Given the description of an element on the screen output the (x, y) to click on. 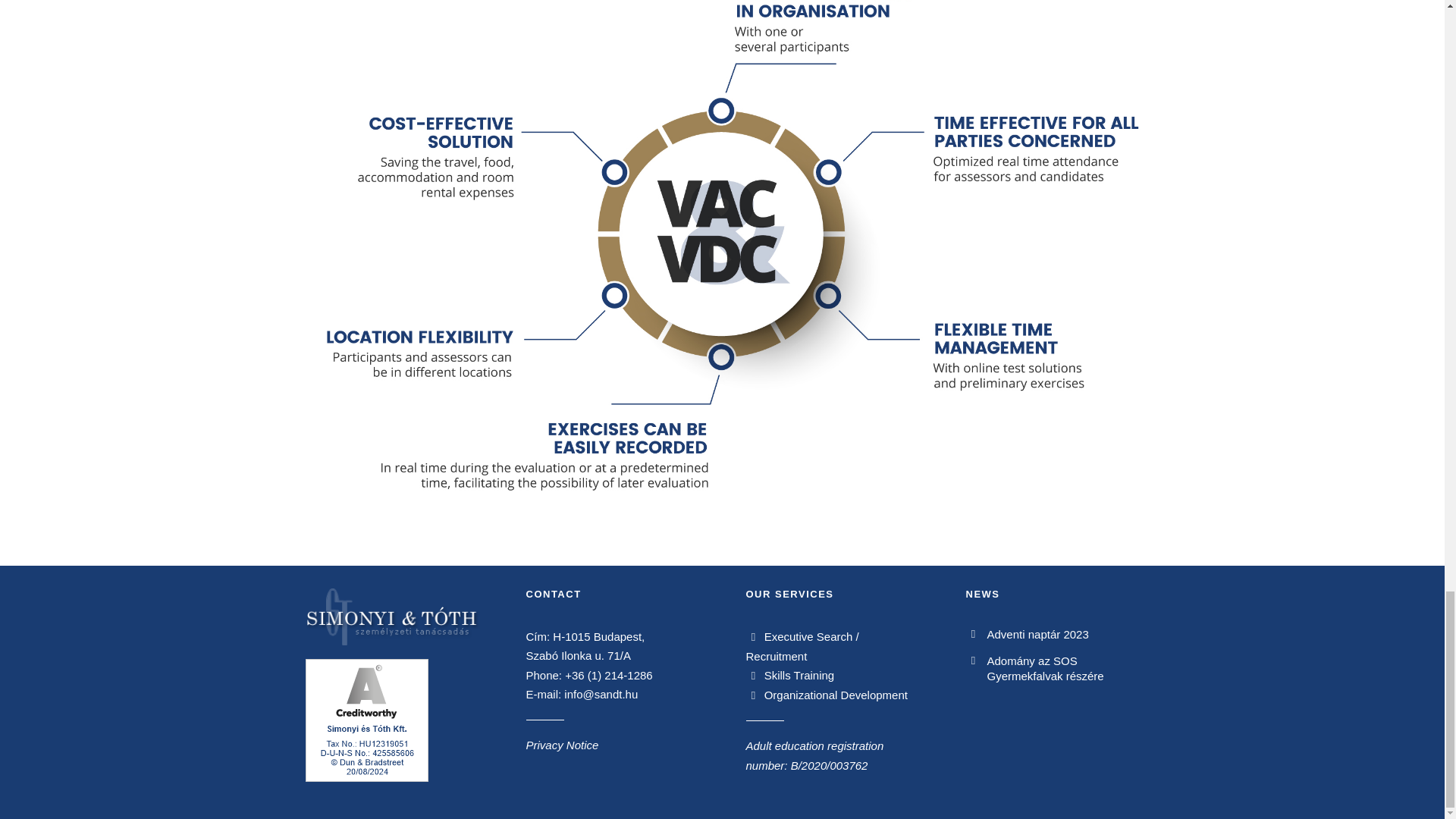
Skills Training (789, 675)
Organizational Development (826, 694)
Privacy Notice (561, 744)
